Given the description of an element on the screen output the (x, y) to click on. 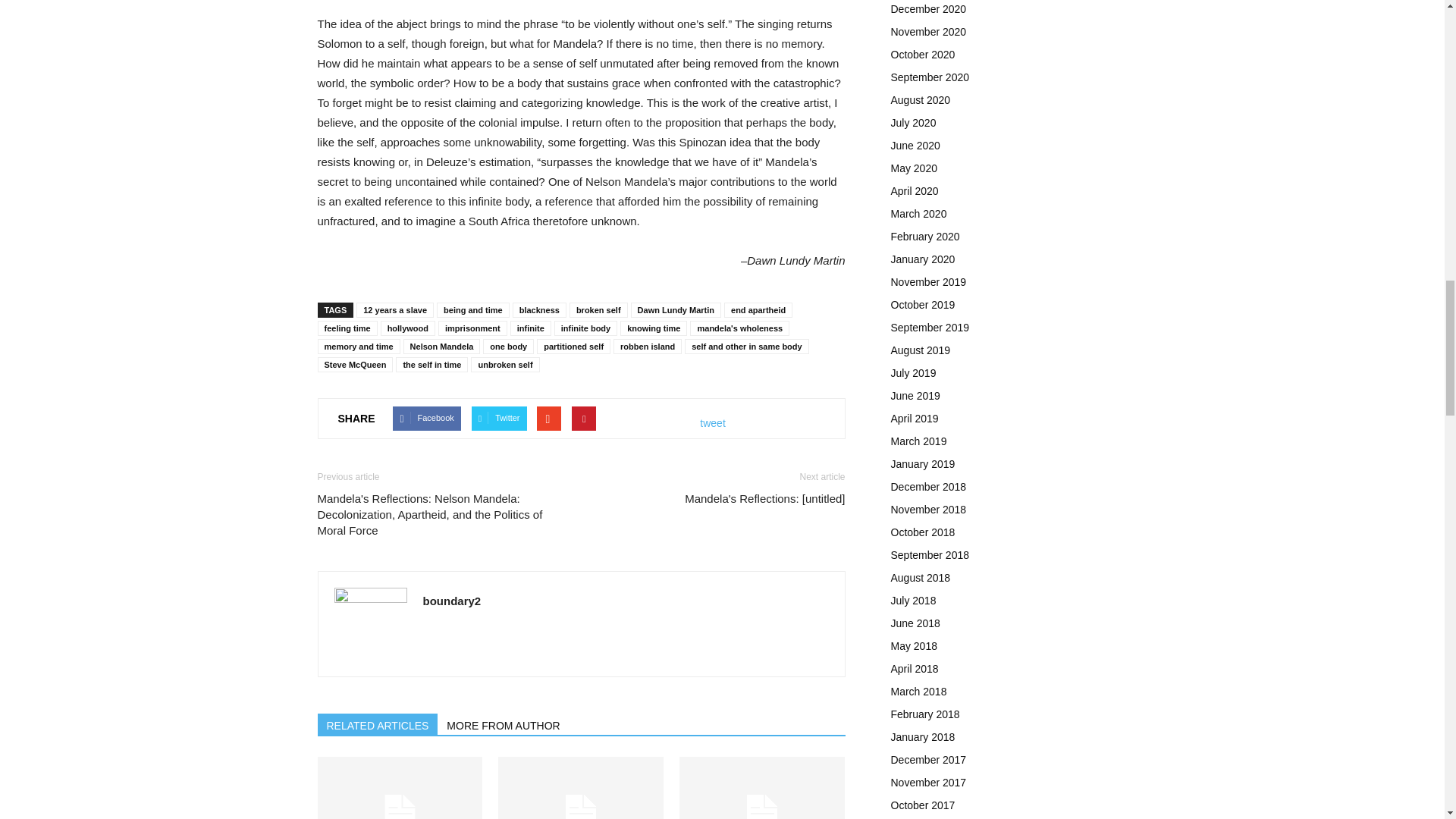
Mandela's Reflections: Mandela's Gift (399, 787)
